Given the description of an element on the screen output the (x, y) to click on. 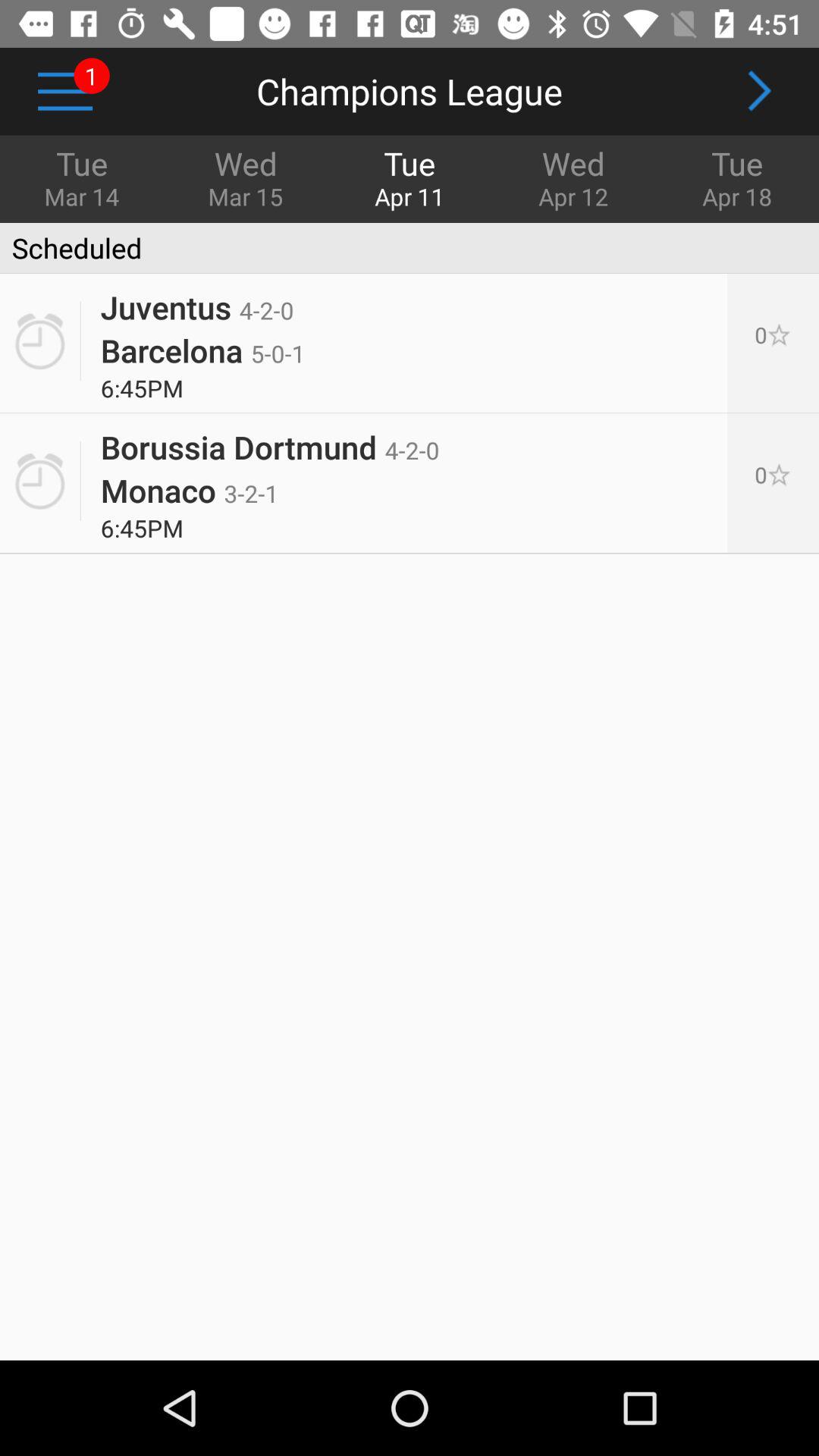
launch the icon to the left of wed
mar 15 icon (64, 91)
